Given the description of an element on the screen output the (x, y) to click on. 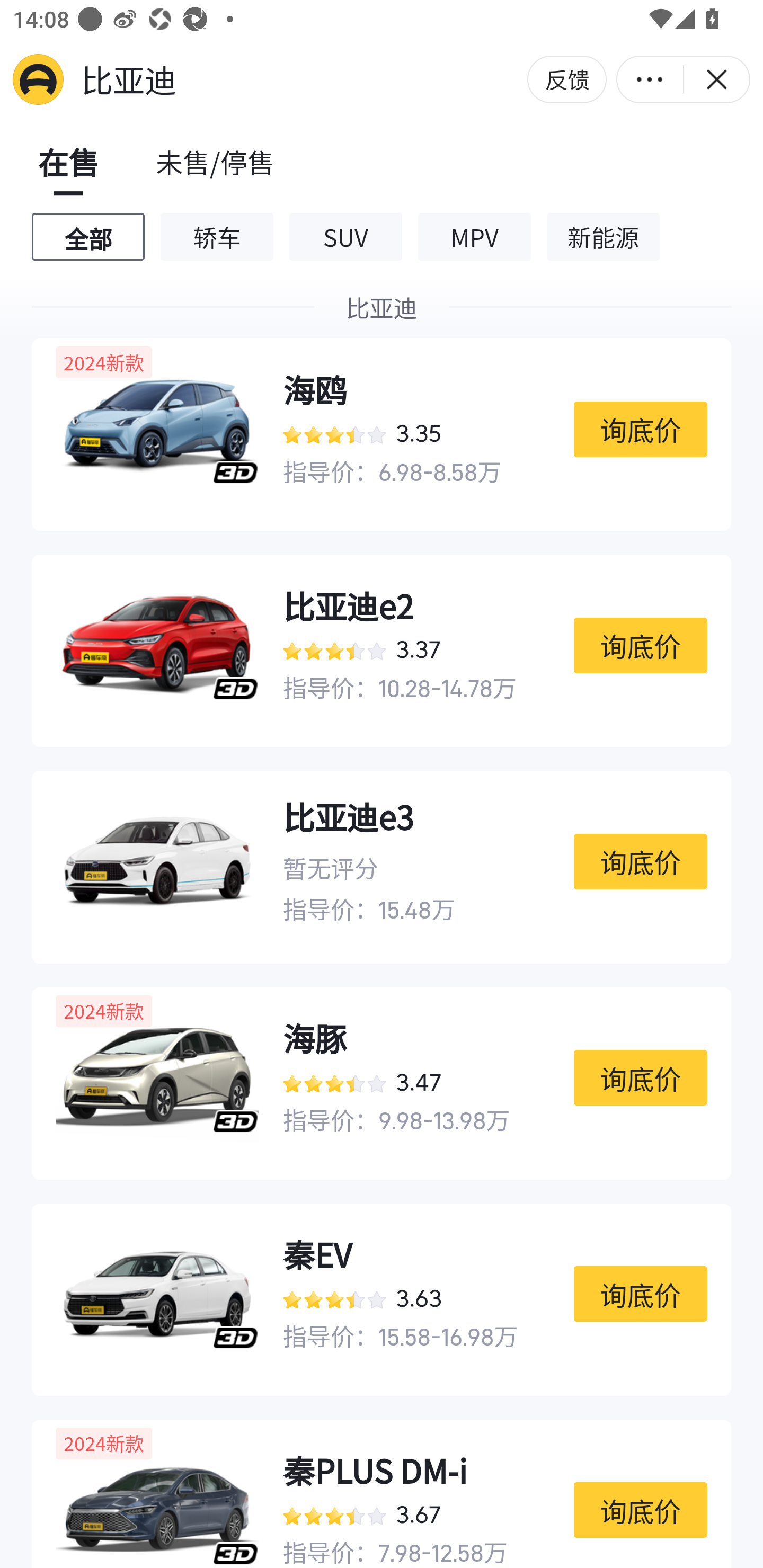
品牌logo (37, 79)
反馈 (566, 78)
更多 (649, 78)
关闭 (716, 78)
